Given the description of an element on the screen output the (x, y) to click on. 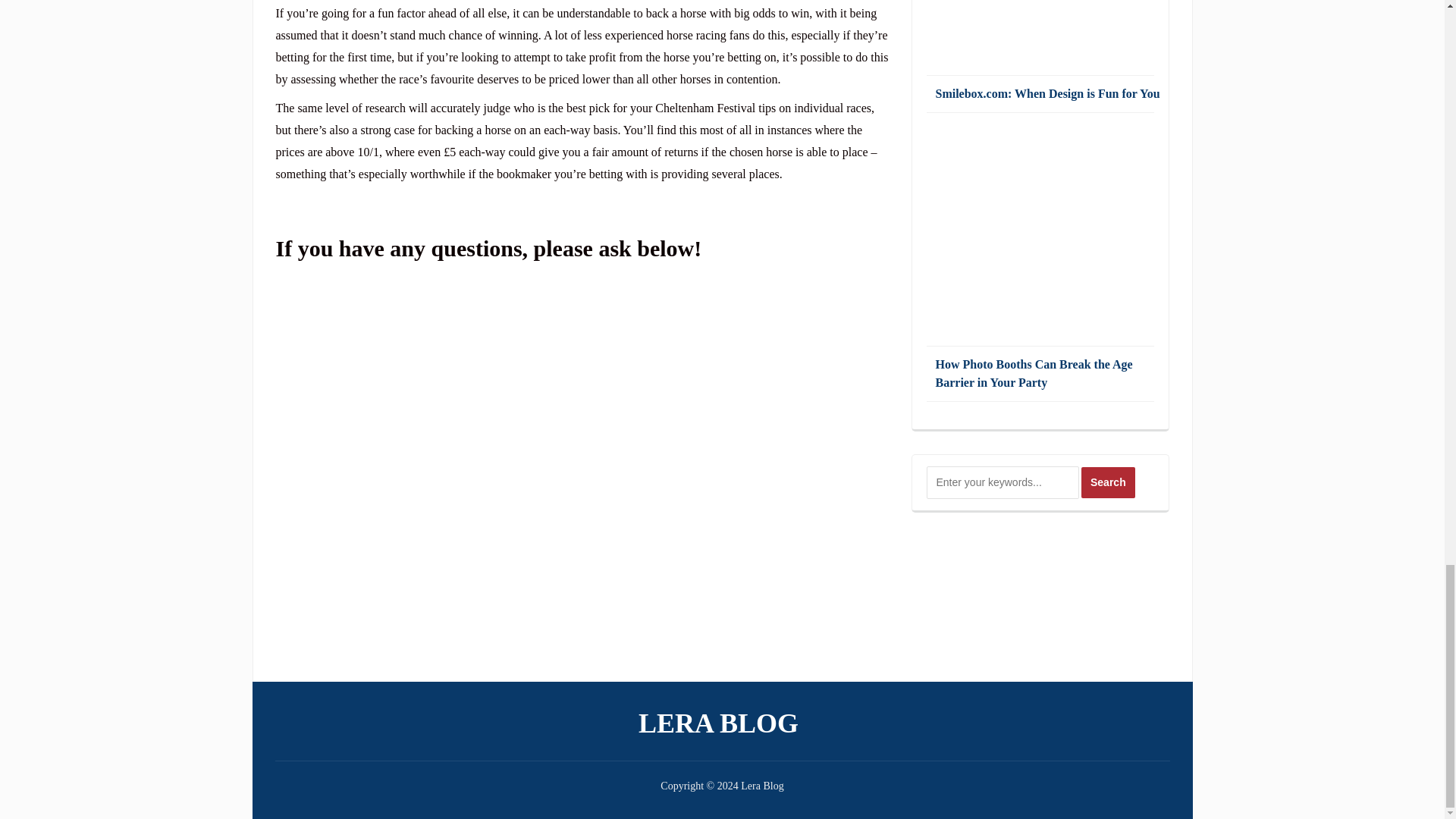
Search (1108, 481)
Search (1108, 481)
